Given the description of an element on the screen output the (x, y) to click on. 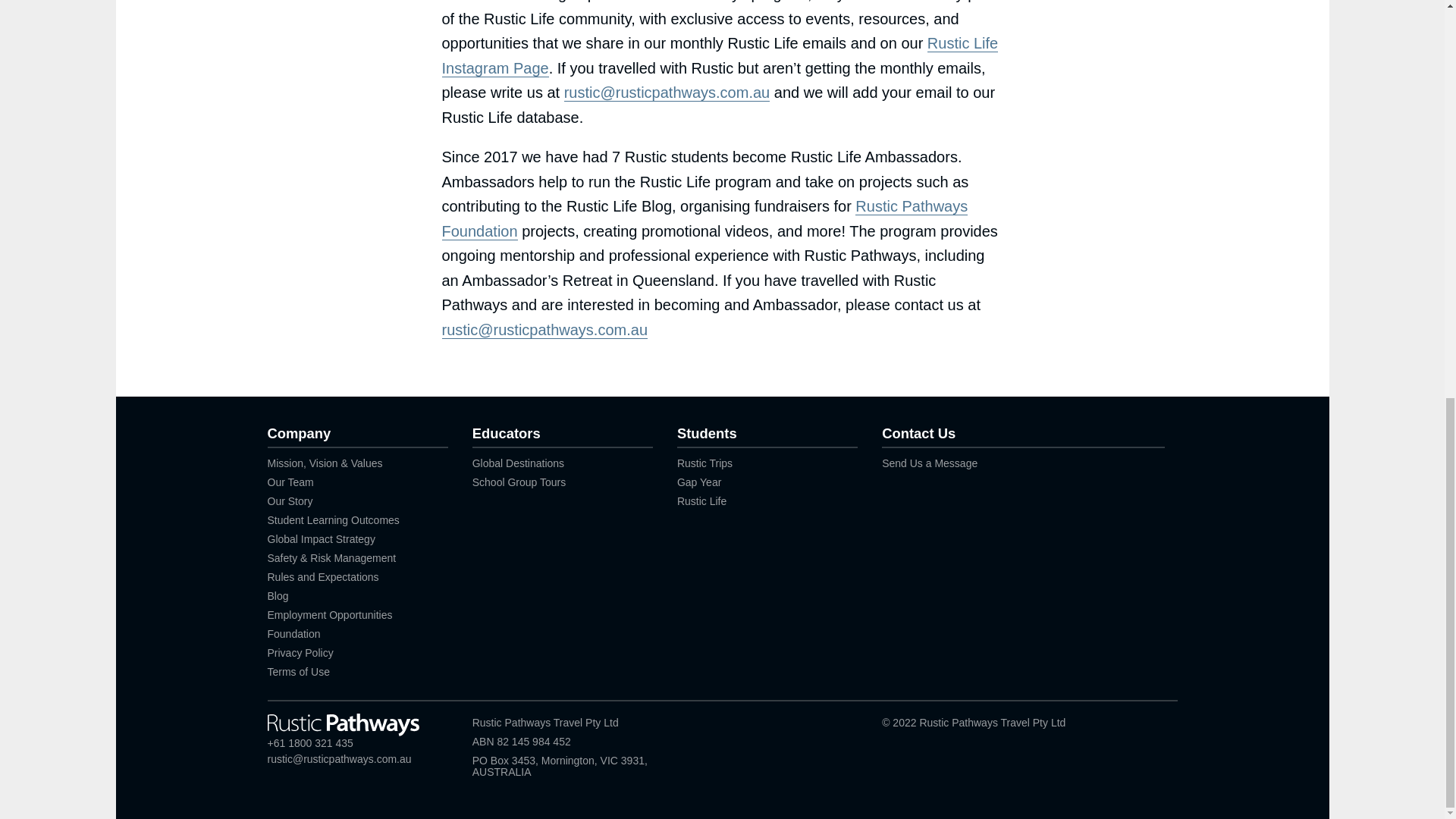
Rustic Life Instagram Page (719, 55)
Our Team (289, 481)
Rustic Pathways Foundation (704, 219)
